Given the description of an element on the screen output the (x, y) to click on. 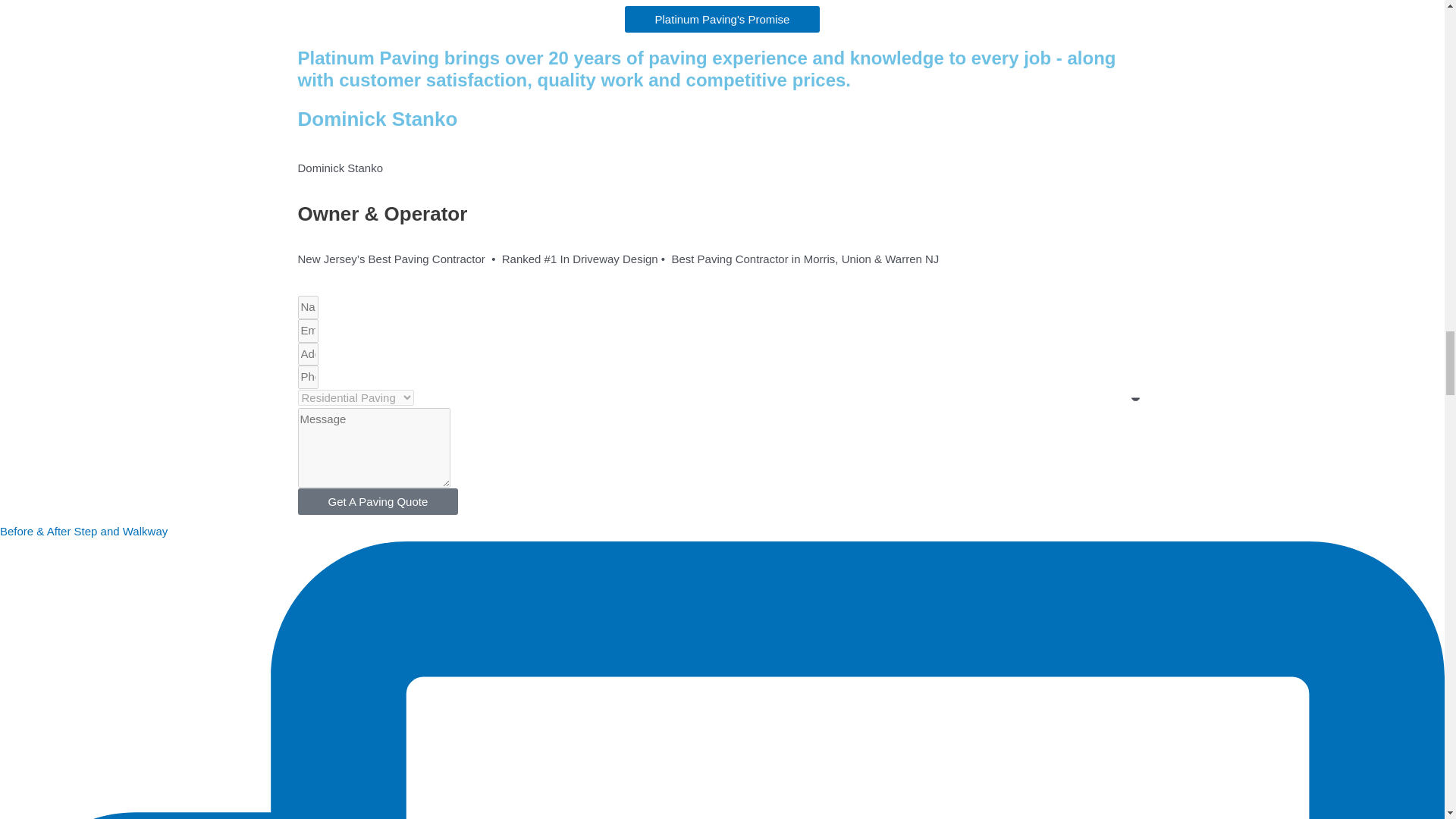
Platinum Paving's Promise (722, 18)
Get A Paving Quote (377, 501)
